Given the description of an element on the screen output the (x, y) to click on. 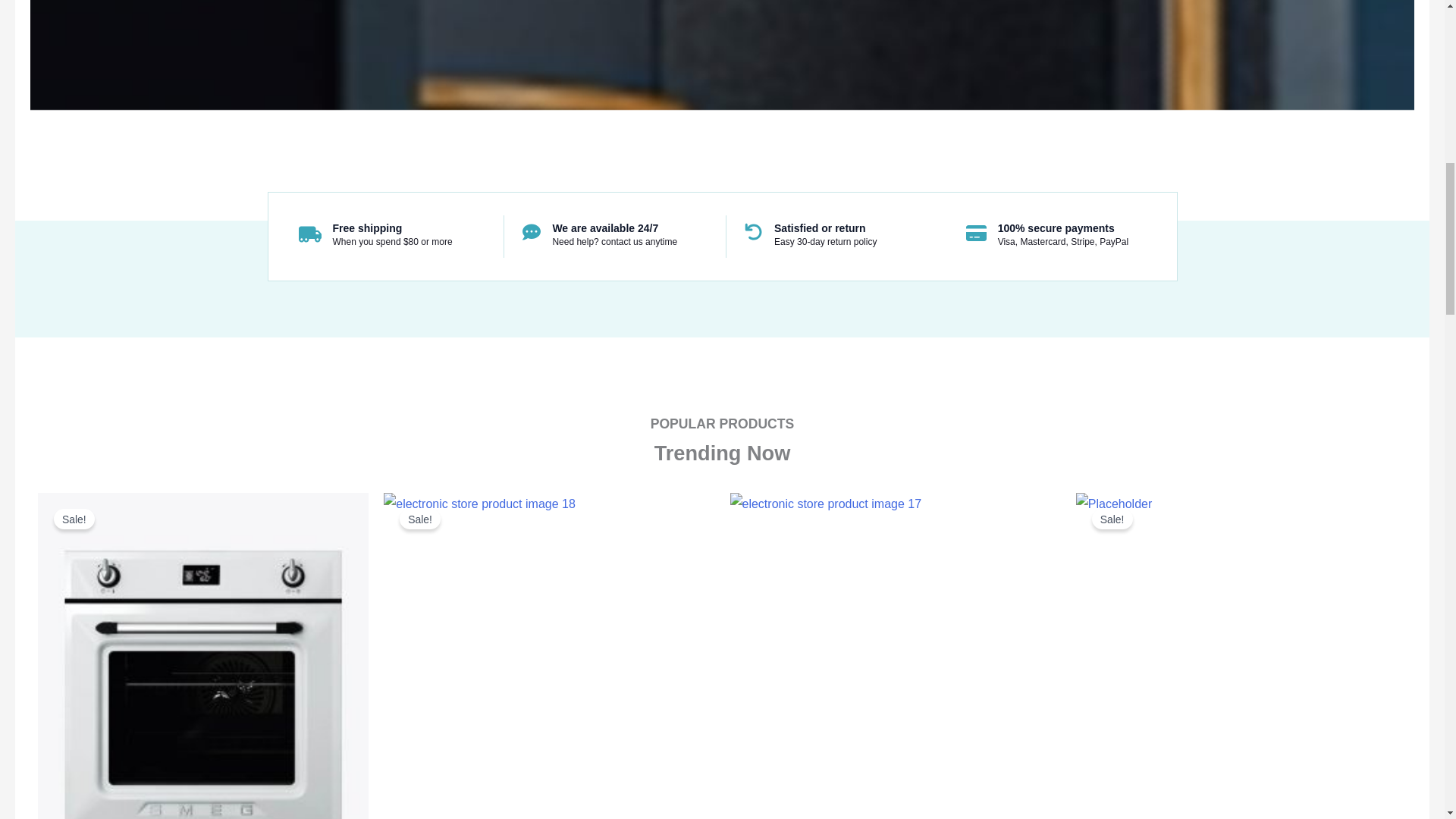
7 (1240, 656)
1 (202, 656)
5 (894, 656)
3 (549, 656)
